Given the description of an element on the screen output the (x, y) to click on. 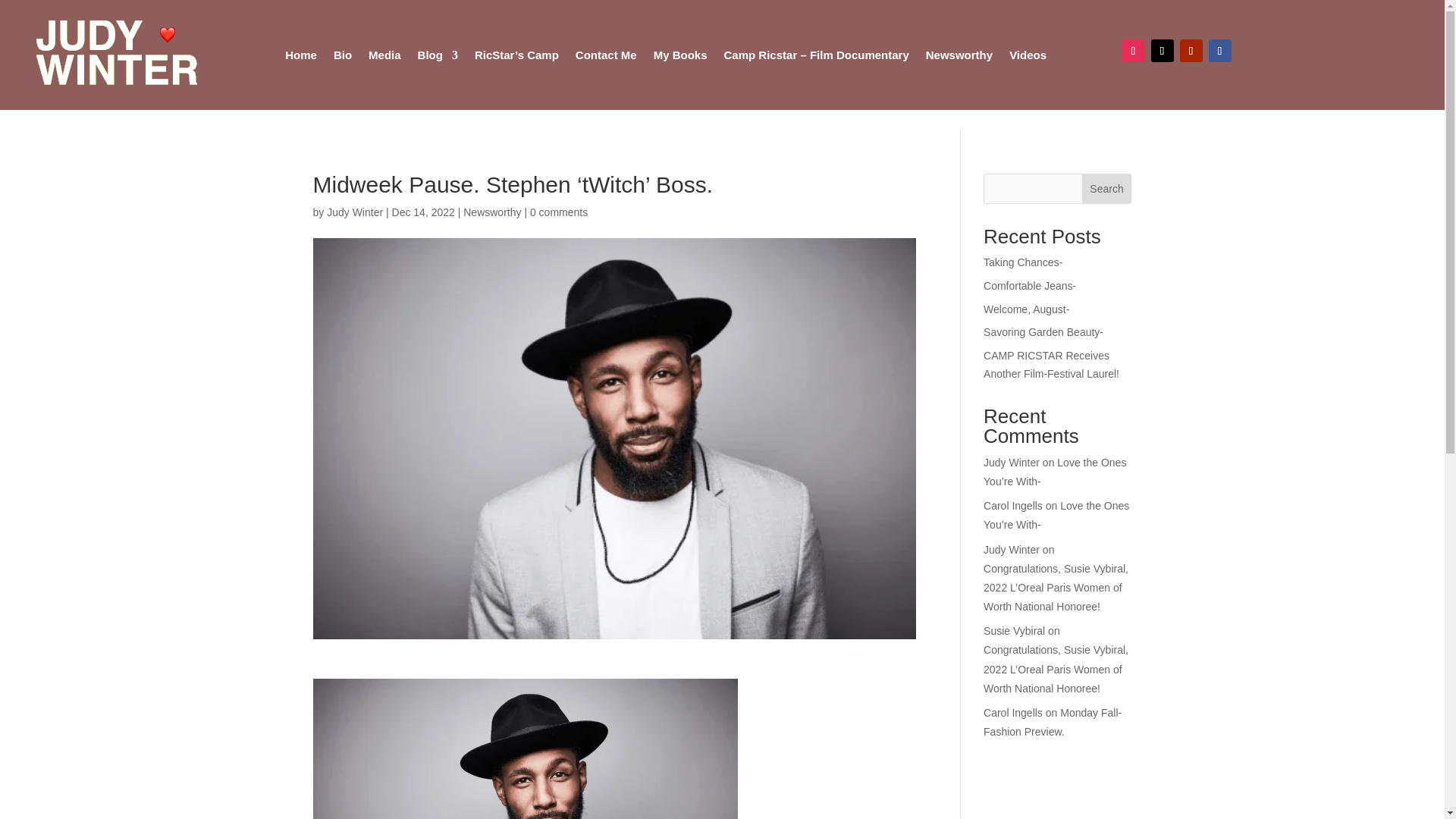
Home (301, 54)
Follow on X (1162, 50)
Posts by Judy Winter (354, 212)
Media (384, 54)
Follow on Facebook (1219, 50)
My Books (680, 54)
Follow on Instagram (1133, 50)
Blog (437, 54)
Newsworthy (959, 54)
Follow on Youtube (1190, 50)
Videos (1027, 54)
Bio (342, 54)
Contact Me (606, 54)
